Given the description of an element on the screen output the (x, y) to click on. 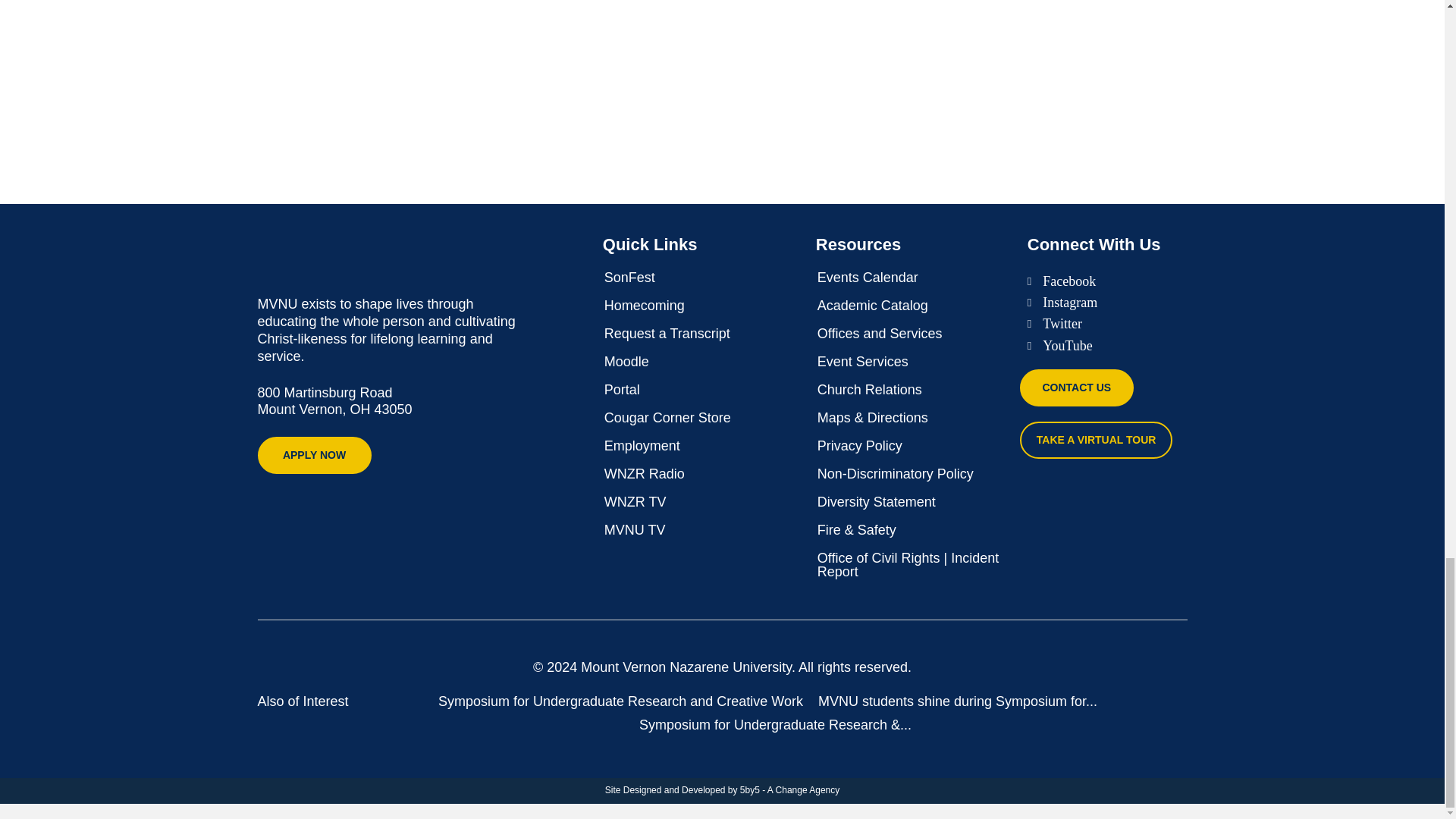
3 (1256, 3)
6 (483, 78)
9 (611, 78)
SPUR Aug 31 2023-02 (611, 3)
Bossley 0428-004 (869, 3)
10 (483, 3)
8 (740, 78)
SPUR Aug 31 2023-05 (1127, 3)
Bossley 0428-109 (740, 3)
MVNU white logo (371, 253)
2 (998, 3)
